Given the description of an element on the screen output the (x, y) to click on. 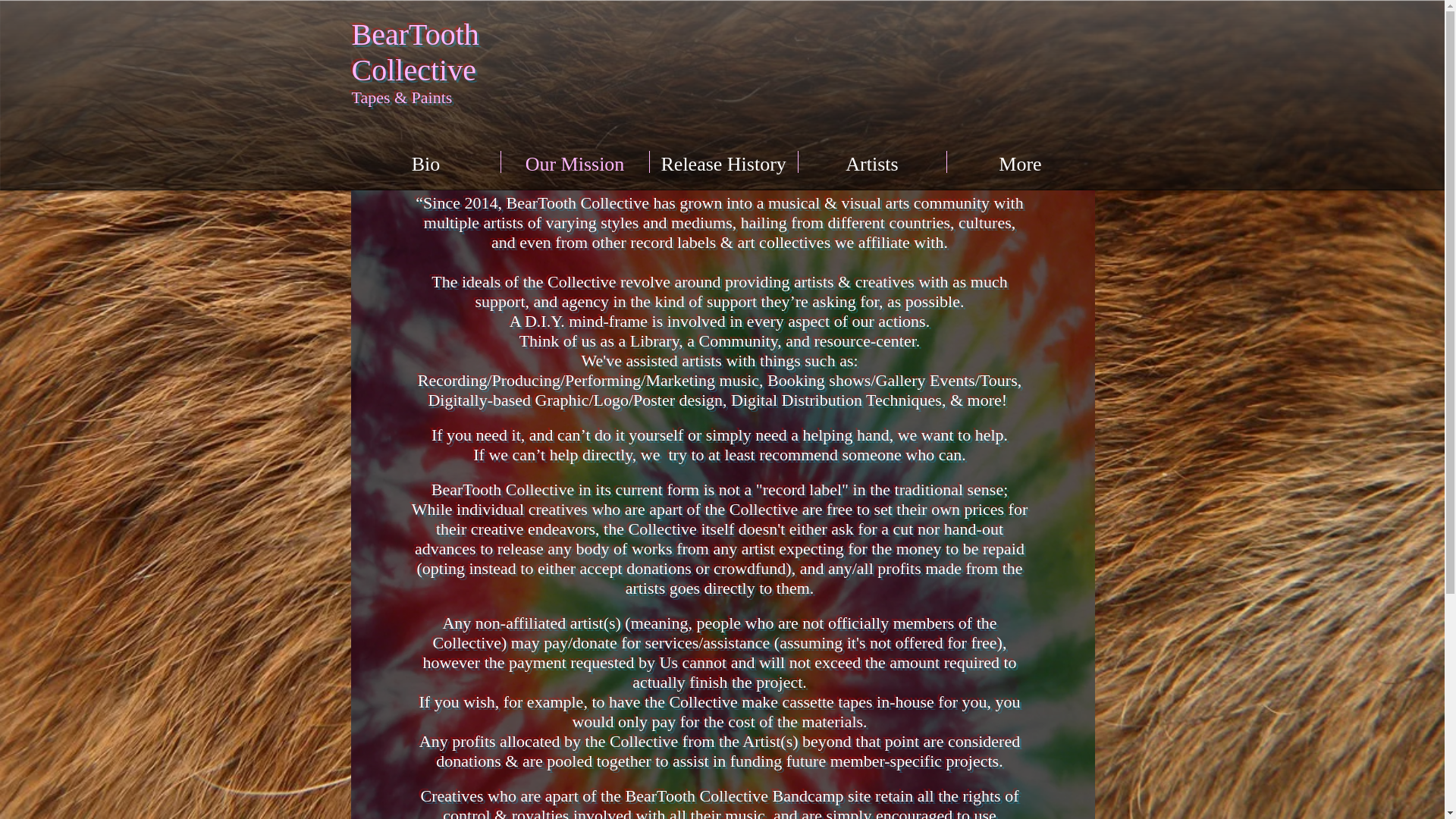
Our Mission (573, 161)
BearTooth Collective (415, 51)
Bio (426, 161)
Release History (722, 161)
